Given the description of an element on the screen output the (x, y) to click on. 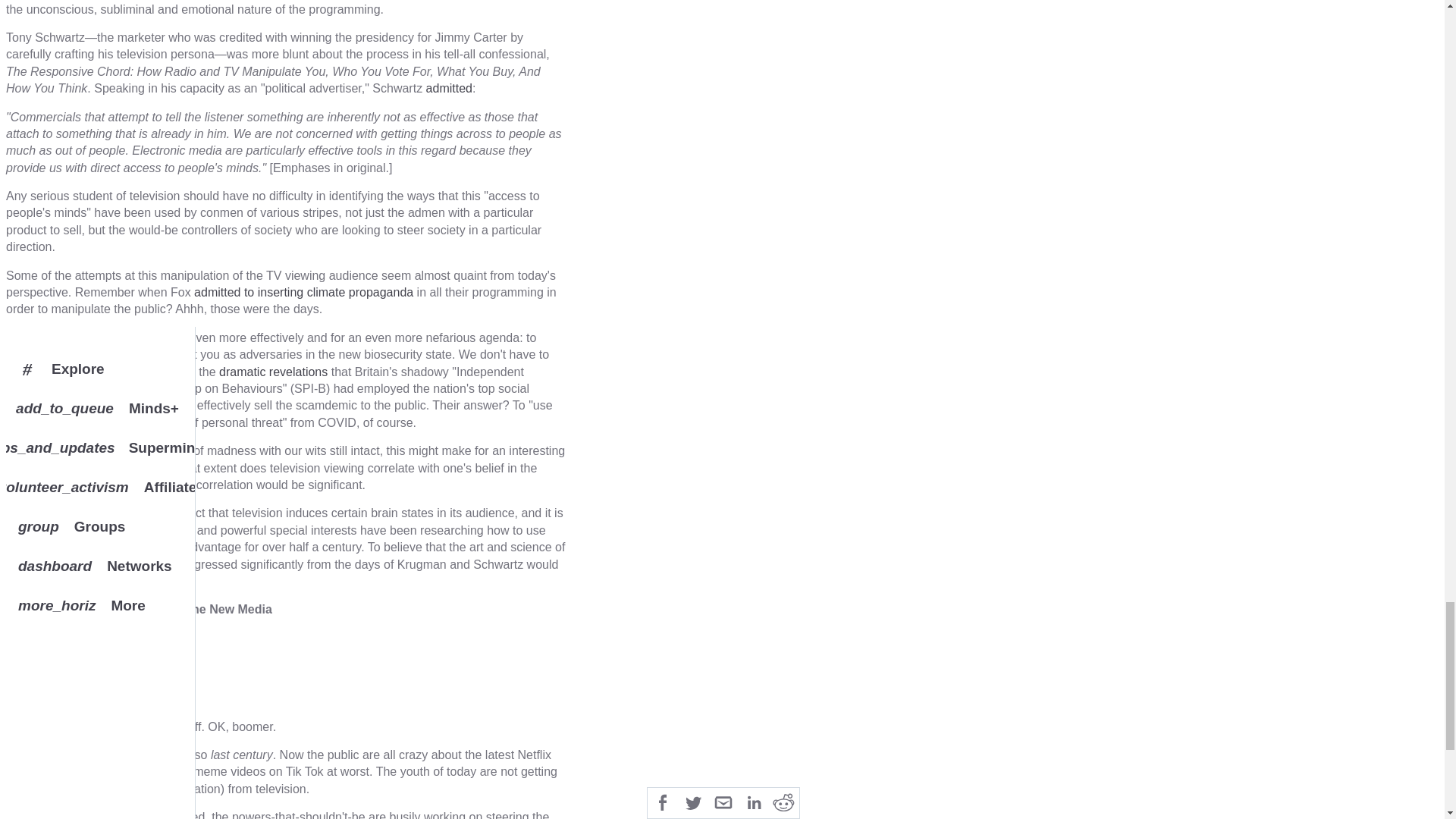
dramatic revelations (273, 371)
admitted (448, 88)
admitted to inserting climate propaganda (303, 291)
